Given the description of an element on the screen output the (x, y) to click on. 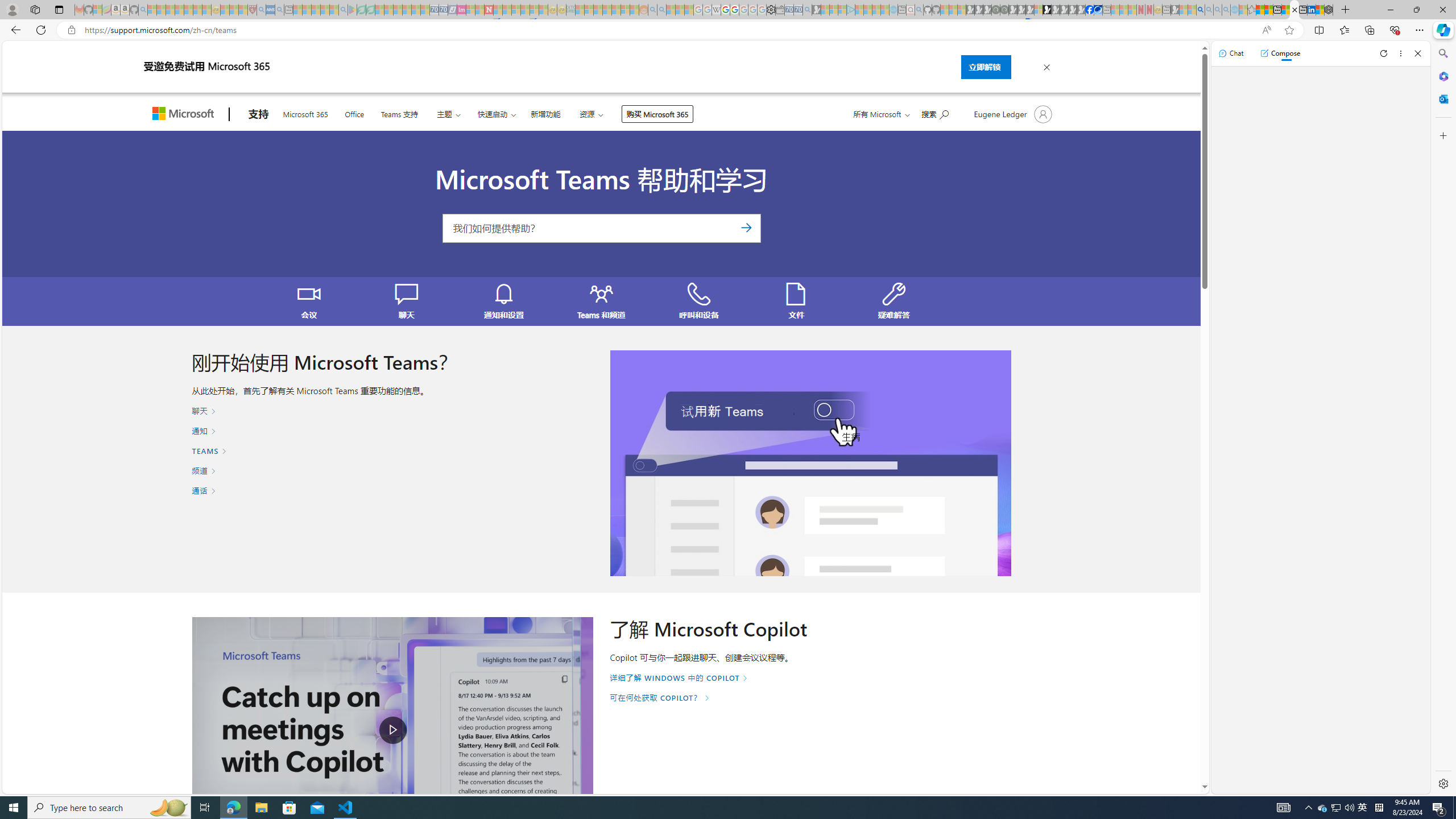
Bing AI - Search (1200, 9)
